Given the description of an element on the screen output the (x, y) to click on. 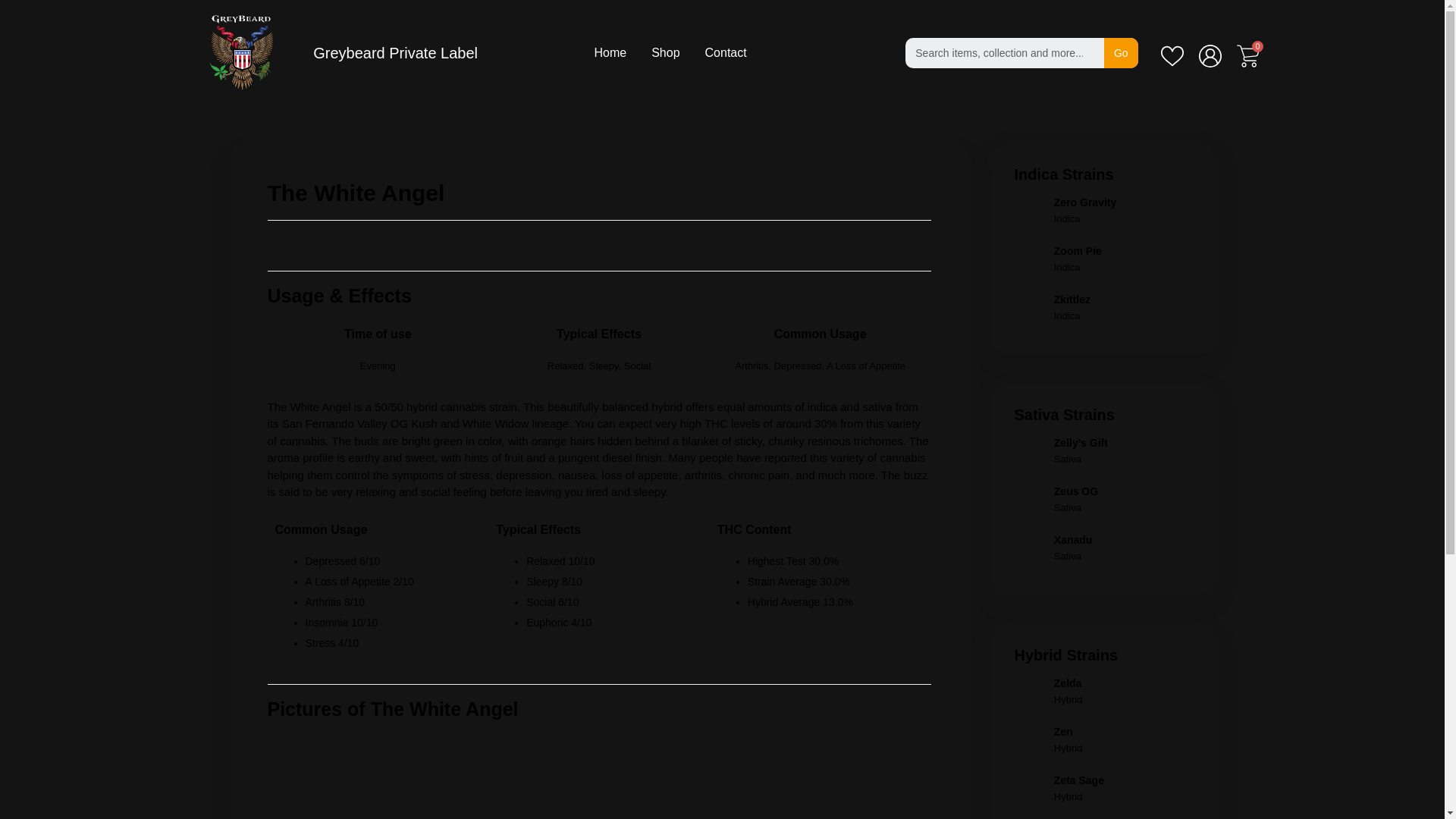
Home (610, 52)
Search (1120, 52)
Go (1120, 52)
Greybeard Private Label (395, 53)
Search (1004, 52)
Zoom Pie (1078, 250)
Shop (664, 52)
Zero Gravity (1085, 202)
0 (1247, 56)
Contact (725, 52)
